Given the description of an element on the screen output the (x, y) to click on. 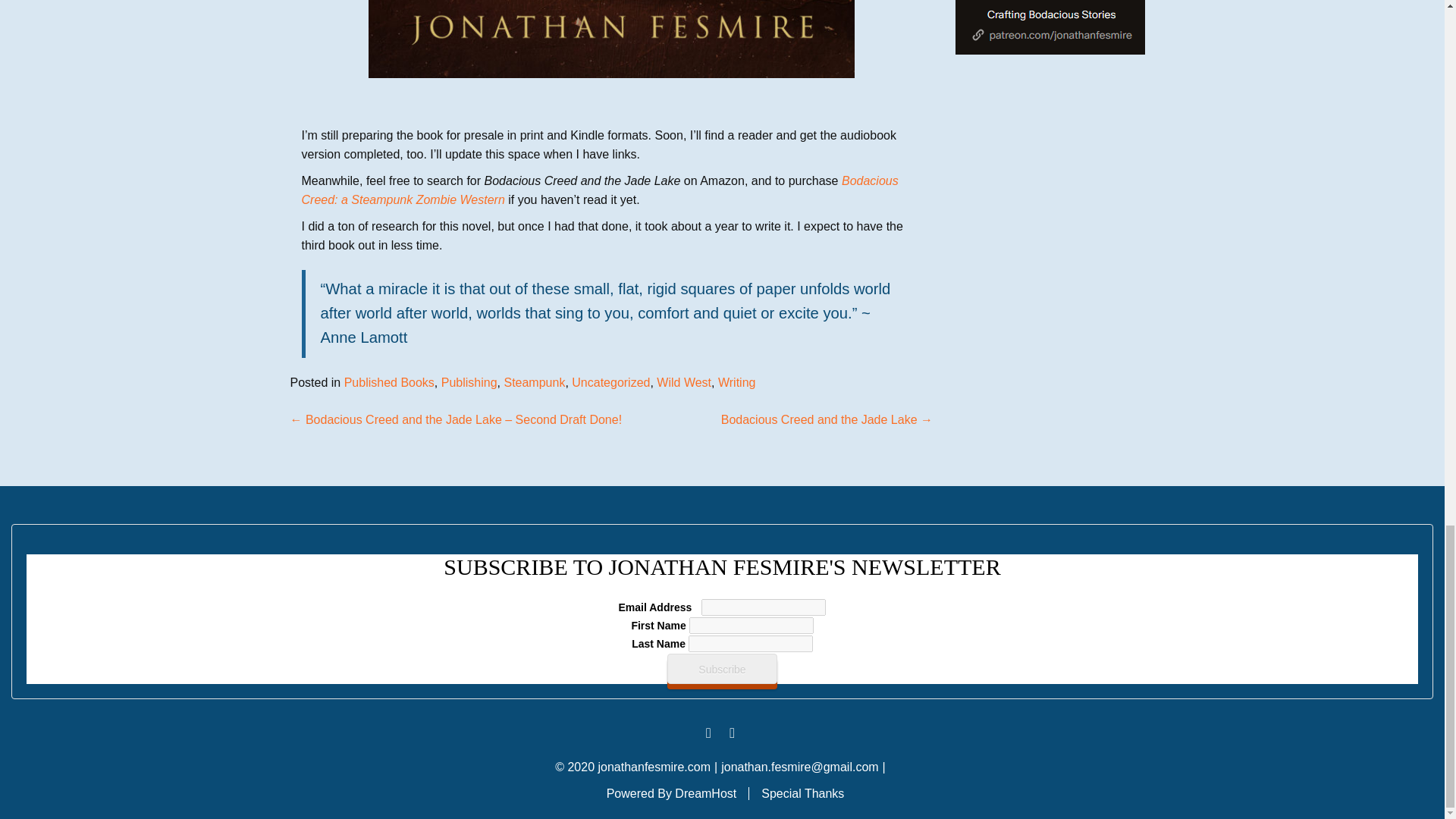
DreamHost (705, 793)
Wild West (683, 382)
Subscribe (721, 668)
Special Thanks (802, 793)
Published Books (388, 382)
TWITTER (731, 732)
Subscribe (721, 668)
Bodacious Creed: a Steampunk Zombie Western (599, 190)
Twitter (731, 732)
Uncategorized (610, 382)
Steampunk (533, 382)
Facebook (707, 732)
jonathanfesmire.com (653, 766)
Writing (736, 382)
FACEBOOK (707, 732)
